Given the description of an element on the screen output the (x, y) to click on. 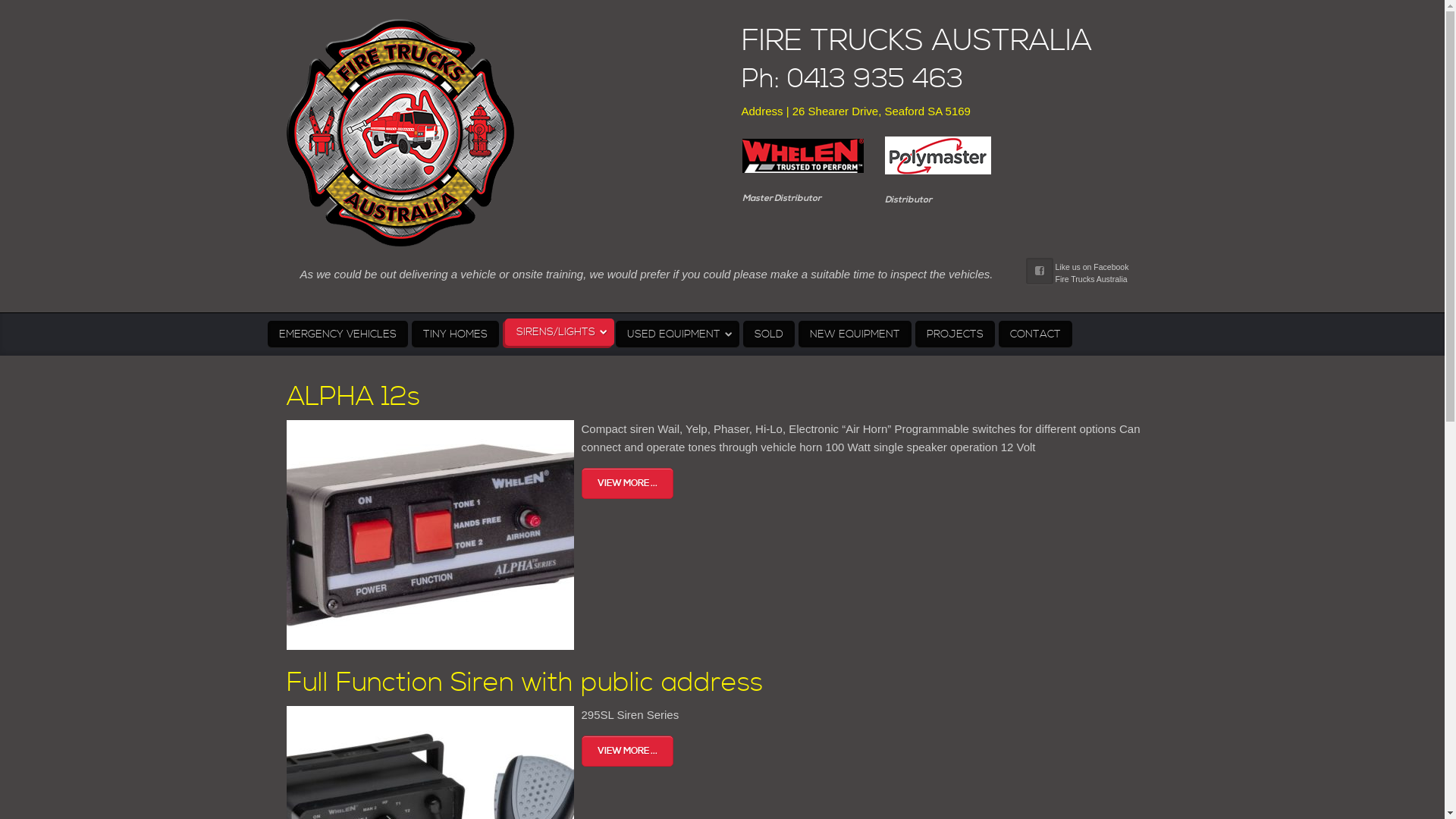
SOLD Element type: text (768, 333)
SIRENS/LIGHTS Element type: text (559, 331)
VIEW MORE ... Element type: text (626, 482)
NEW EQUIPMENT Element type: text (853, 333)
Full Function Siren with public address Element type: text (524, 682)
USED EQUIPMENT Element type: text (677, 333)
EMERGENCY VEHICLES Element type: text (336, 333)
VIEW MORE ... Element type: text (626, 750)
PROJECTS Element type: text (954, 333)
Address | 26 Shearer Drive, Seaford SA 5169 Element type: text (855, 110)
CONTACT Element type: text (1034, 333)
Ph: 0413 935 463 Element type: text (949, 79)
TINY HOMES Element type: text (454, 333)
ALPHA 12s Element type: text (353, 397)
